Given the description of an element on the screen output the (x, y) to click on. 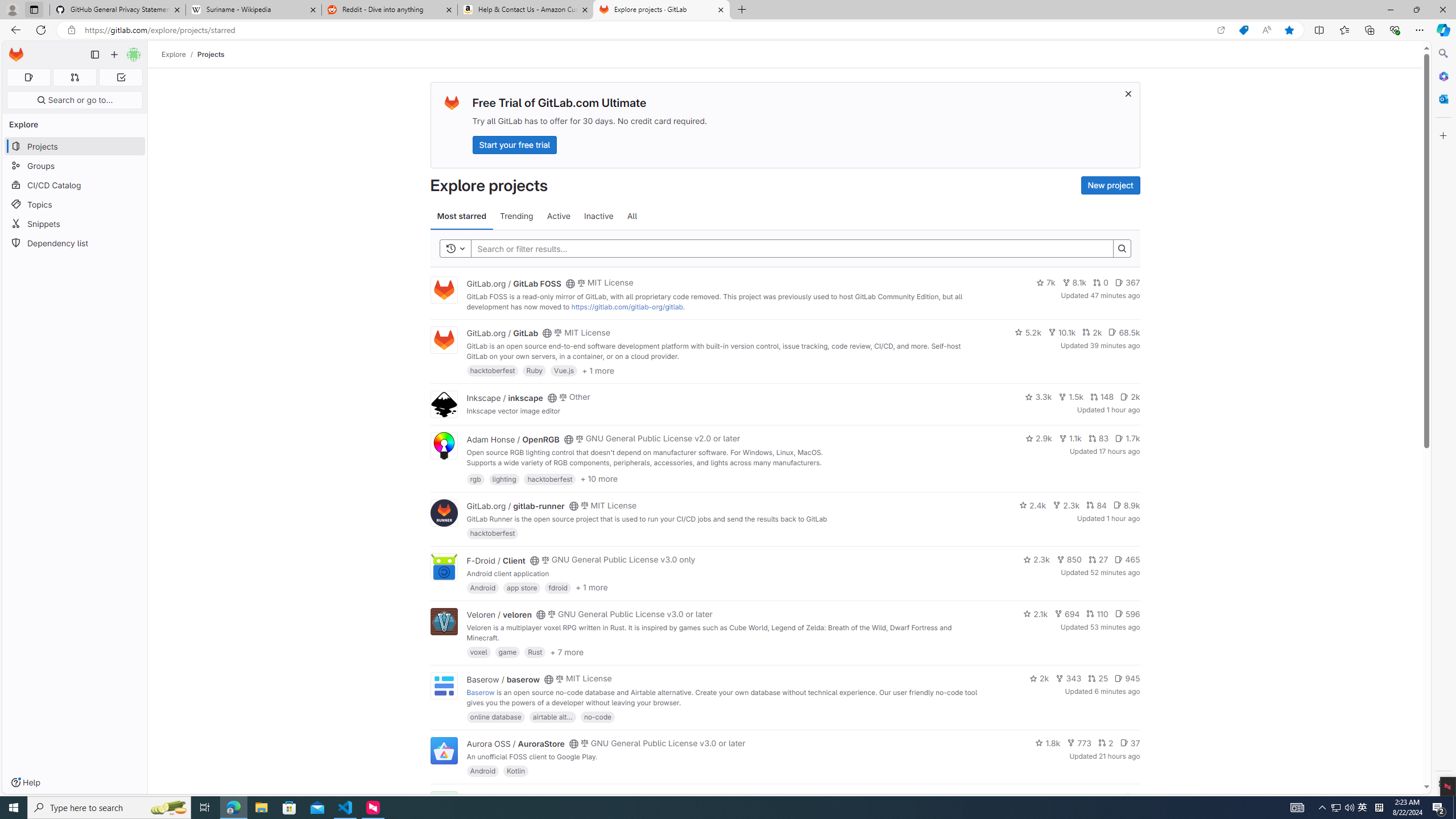
596 (1127, 613)
1 (1111, 797)
343 (1068, 678)
Vue.js (563, 370)
Most starred (461, 216)
hacktoberfest (492, 533)
2.9k (1038, 438)
Ruby (533, 370)
Groups (74, 165)
rgb (475, 478)
2.4k (1032, 504)
New project (1110, 185)
